Given the description of an element on the screen output the (x, y) to click on. 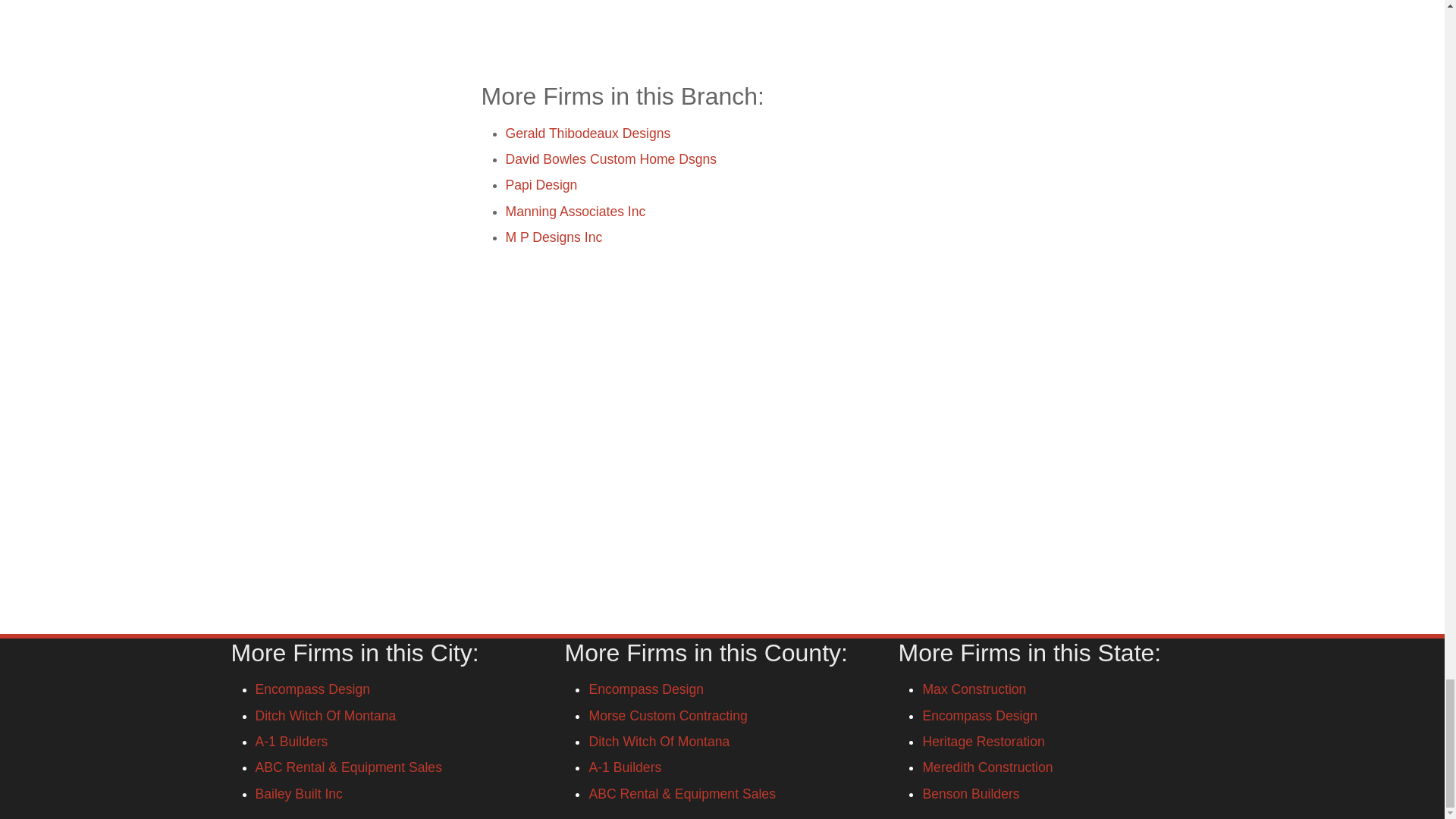
Papi Design (540, 184)
David Bowles Custom Home Dsgns (610, 159)
Gerald Thibodeaux Designs (587, 133)
Advertisement (721, 30)
M P Designs Inc (553, 237)
Manning Associates Inc (575, 211)
